Given the description of an element on the screen output the (x, y) to click on. 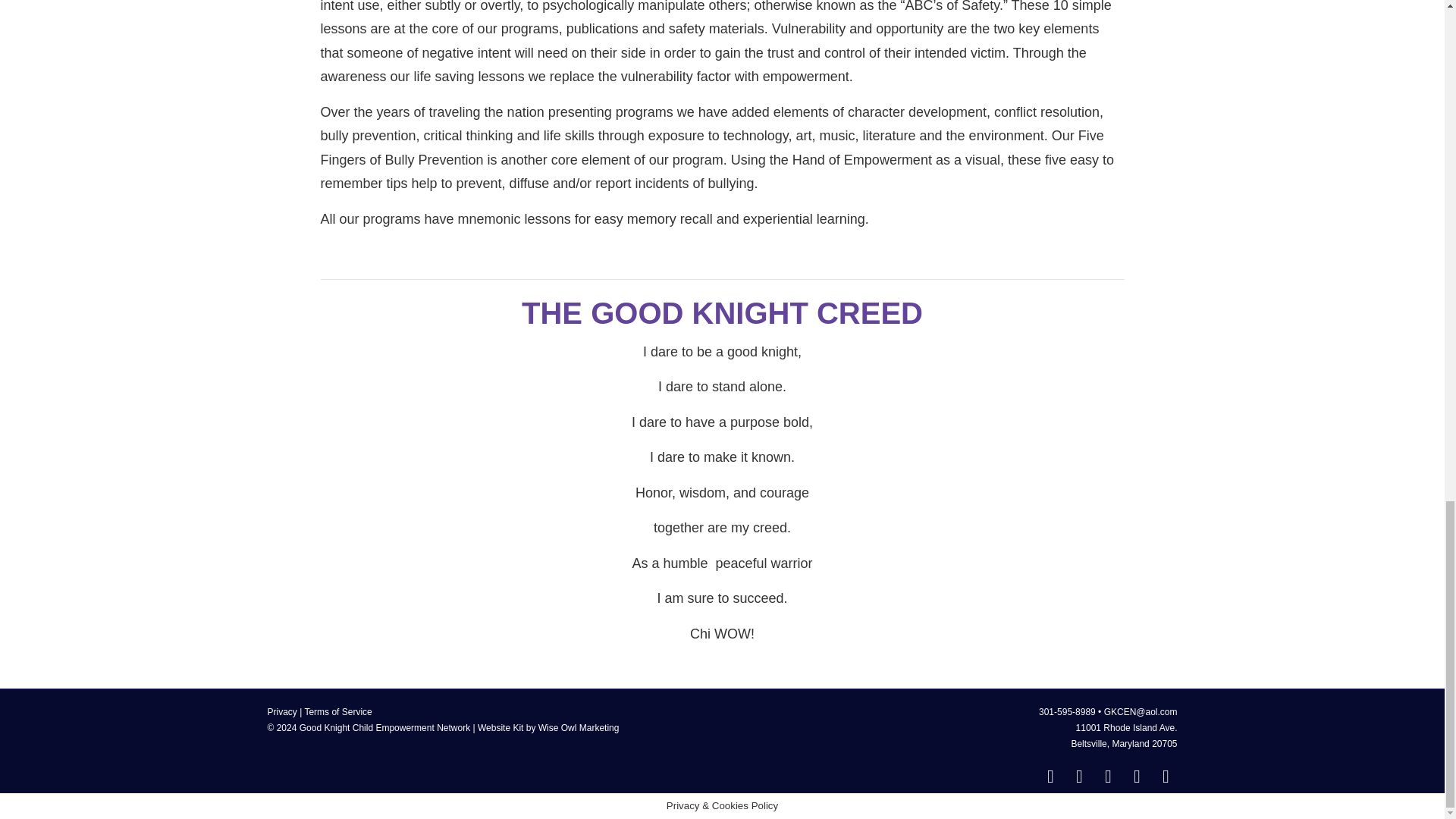
Instagram (1136, 776)
Wise Owl Marketing (579, 727)
Email (1165, 776)
Youtube (1107, 776)
Google-maps (1078, 776)
301-595-8989 (1067, 711)
Facebook (1050, 776)
Privacy (281, 711)
Terms of Service (337, 711)
Wise Owl Marketing (579, 727)
